Given the description of an element on the screen output the (x, y) to click on. 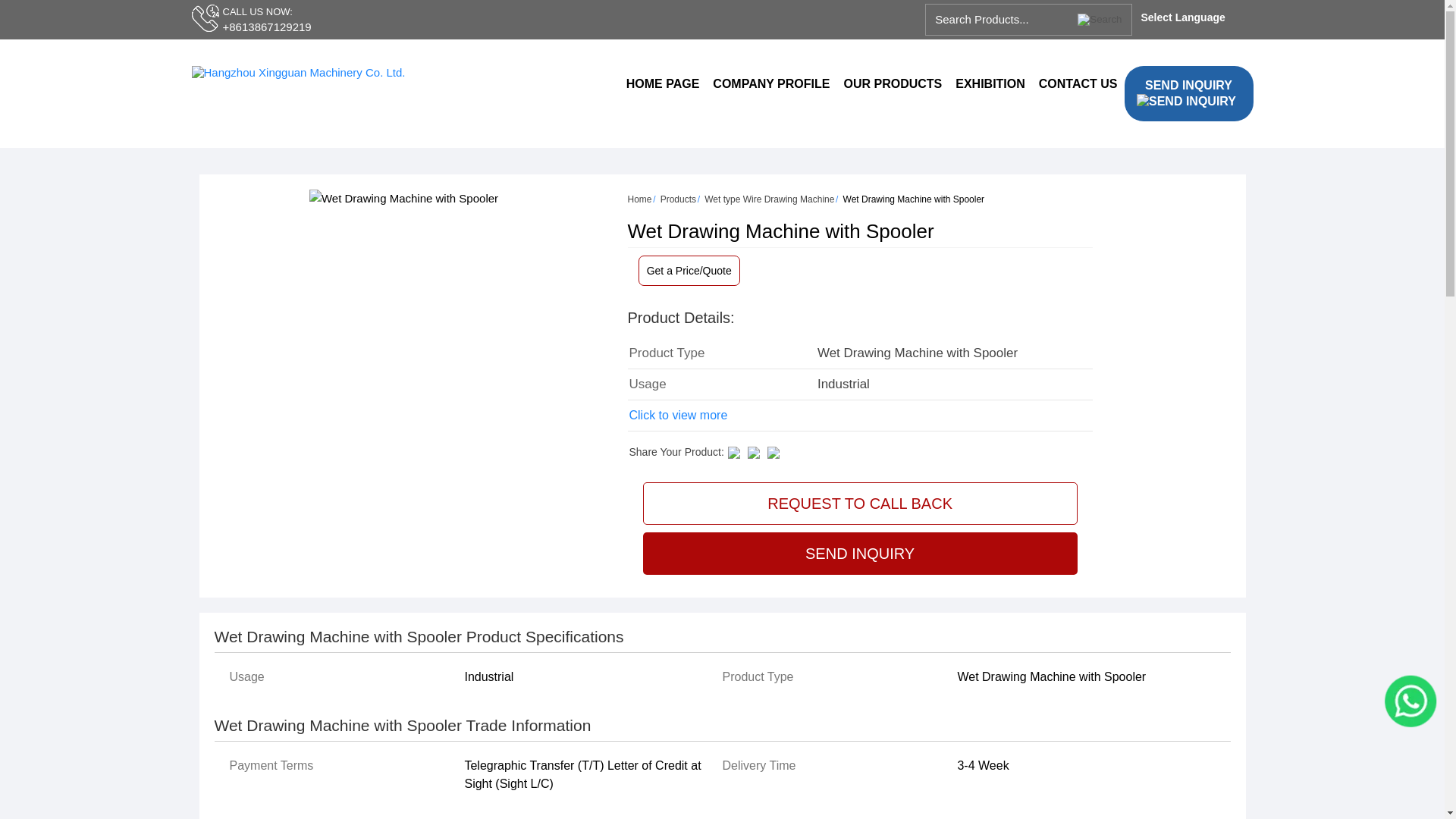
Search Products... (1001, 19)
submit (1104, 14)
Search (1104, 14)
Select Language (1191, 16)
Send Inquiry (1186, 101)
Hangzhou Xingguan Machinery Co. Ltd. (297, 72)
OUR PRODUCTS (892, 84)
Call Us (206, 17)
COMPANY PROFILE (770, 84)
HOME PAGE (663, 84)
